Given the description of an element on the screen output the (x, y) to click on. 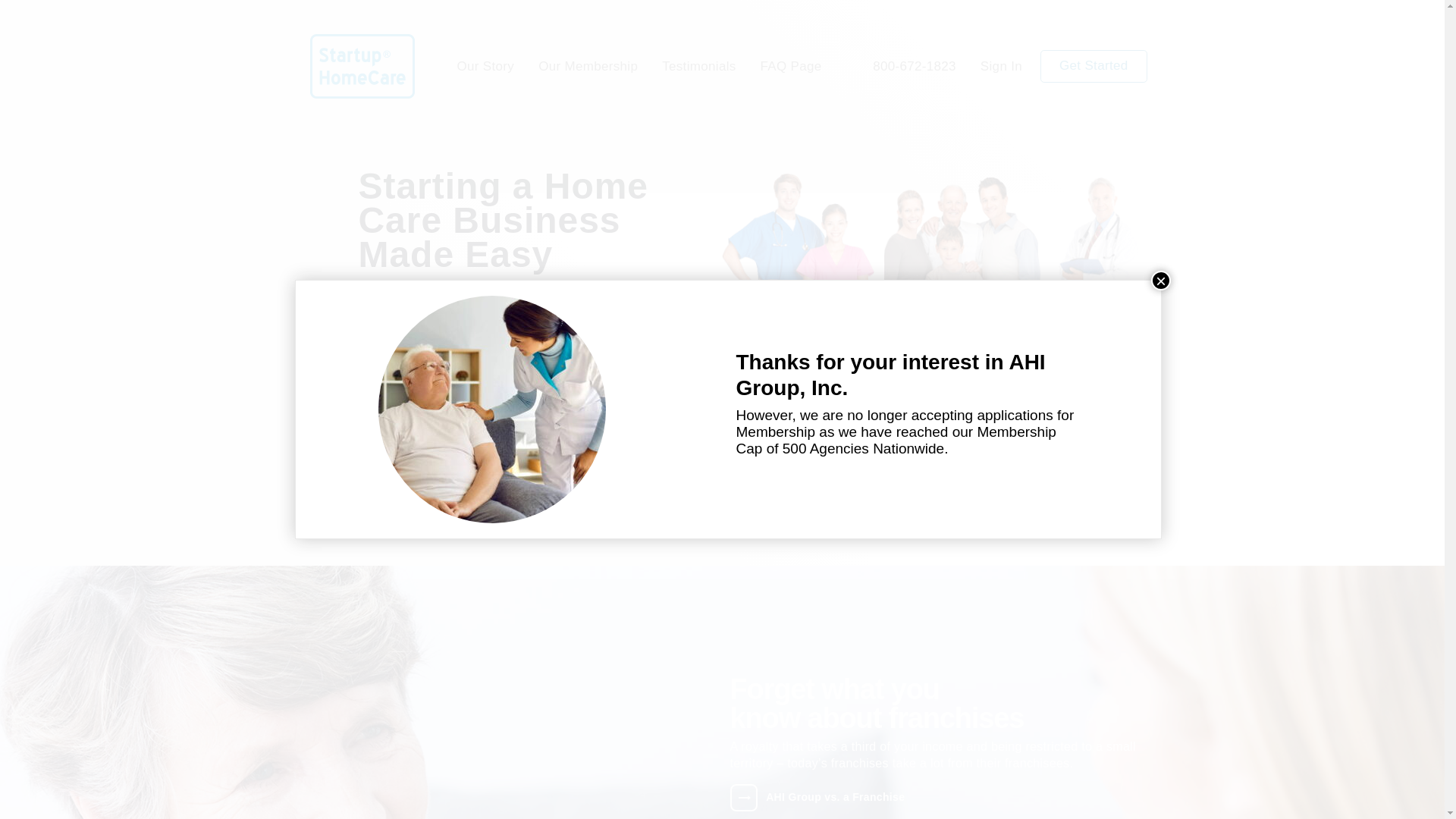
Sign In (1000, 66)
Our Membership (587, 66)
Sign In (1000, 66)
AHI Group vs. a Franchise (938, 797)
Our Membership (587, 66)
Learn more (540, 479)
Testimonials (698, 66)
Get Started (1092, 65)
Our Story (484, 66)
FAQ Page (791, 66)
FAQ Page (791, 66)
StartupHomeCare (360, 66)
Get Started (1092, 65)
800-672-1823 (914, 66)
Testimonials (698, 66)
